Given the description of an element on the screen output the (x, y) to click on. 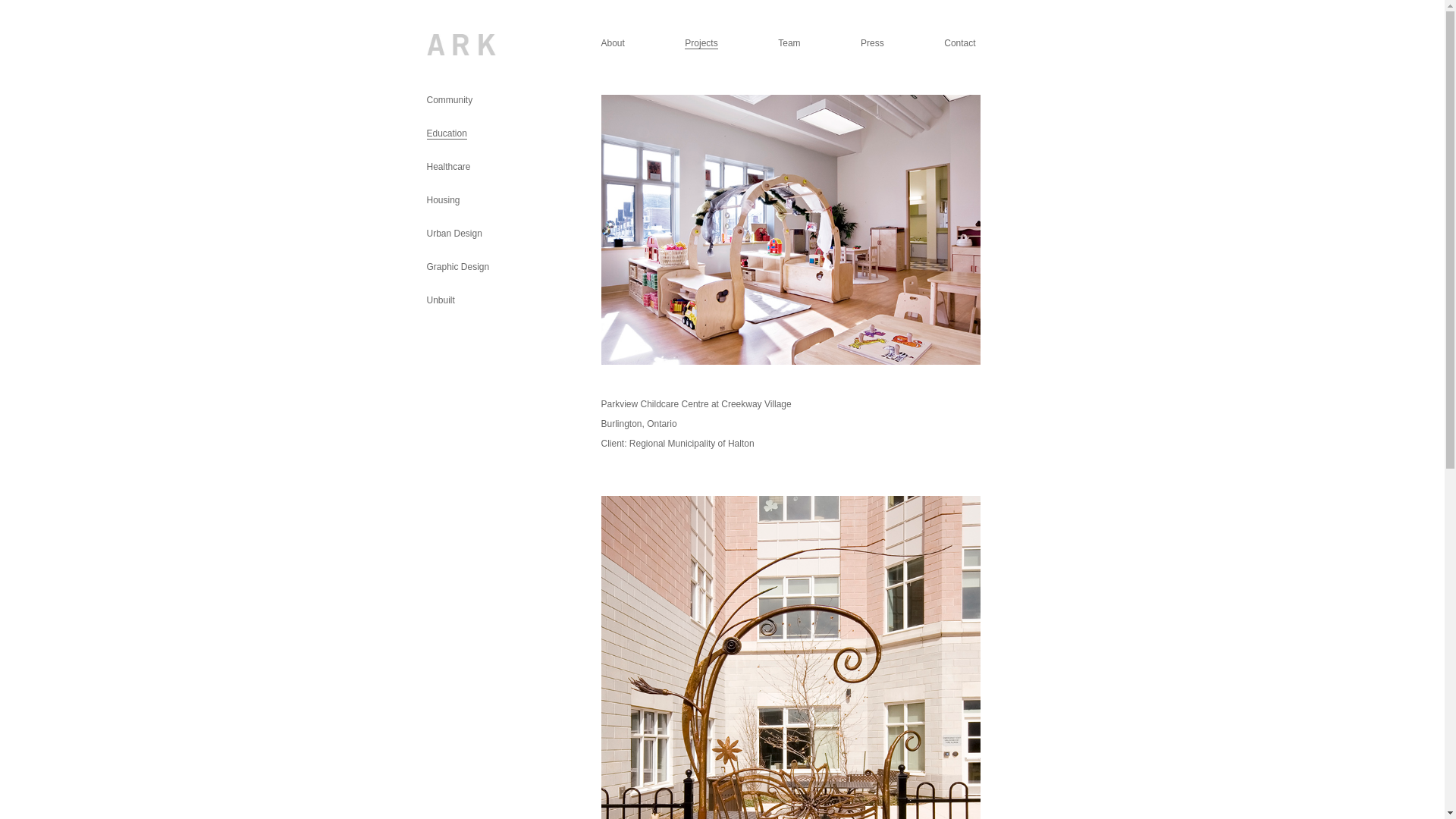
About Element type: text (612, 42)
Projects Element type: text (700, 43)
Team Element type: text (789, 42)
Urban Design Element type: text (453, 233)
Unbuilt Element type: text (440, 299)
Graphic Design Element type: text (457, 266)
Healthcare Element type: text (448, 166)
Press Element type: text (872, 42)
Contact Element type: text (959, 42)
Education Element type: text (446, 133)
Housing Element type: text (442, 199)
Community Element type: text (449, 99)
